Given the description of an element on the screen output the (x, y) to click on. 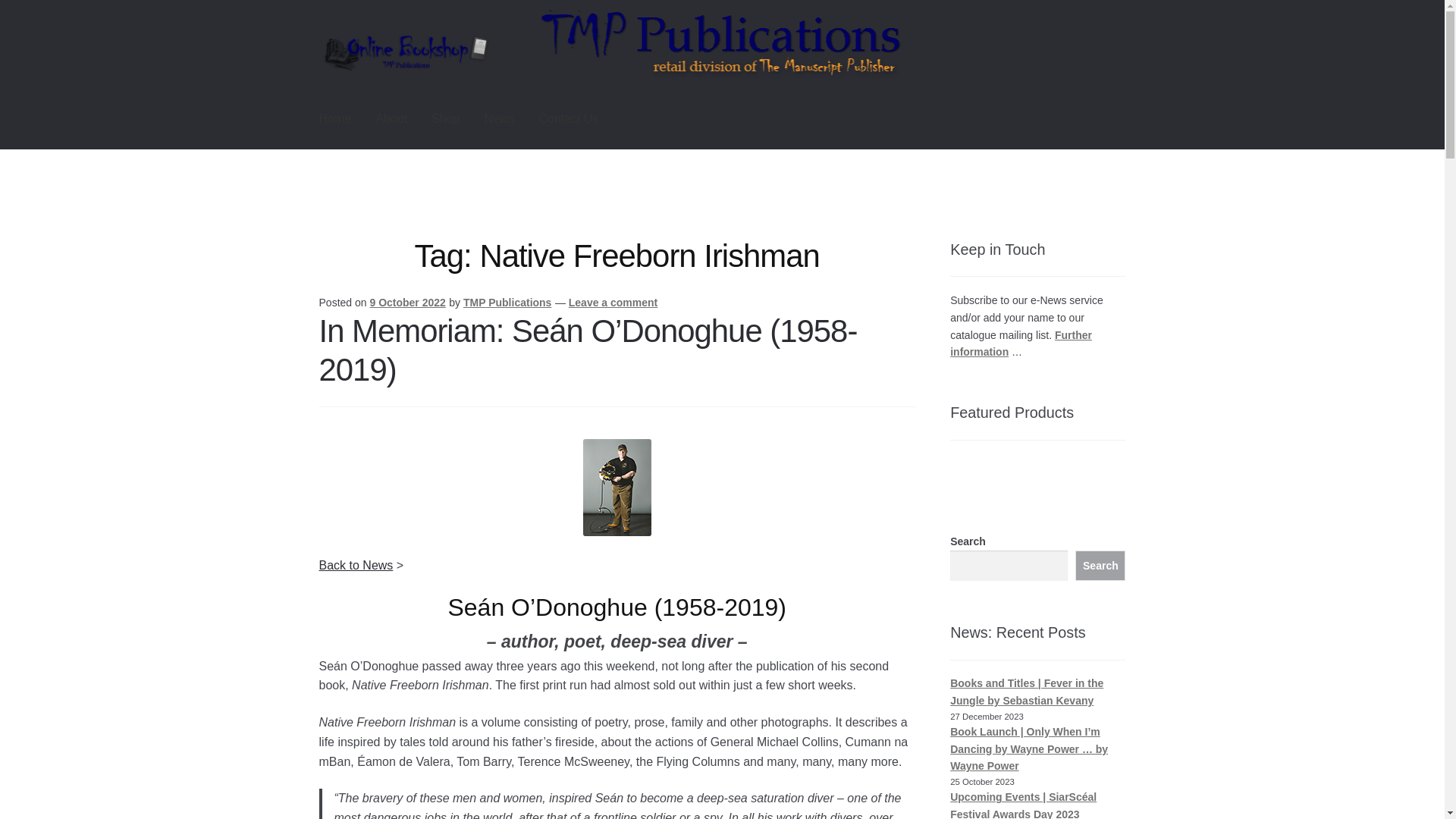
TMP Publications (507, 302)
Contact Us (567, 118)
About (390, 118)
Home (335, 118)
Browse the archives (355, 564)
Back to News (355, 564)
News (498, 118)
9 October 2022 (407, 302)
Leave a comment (613, 302)
